Given the description of an element on the screen output the (x, y) to click on. 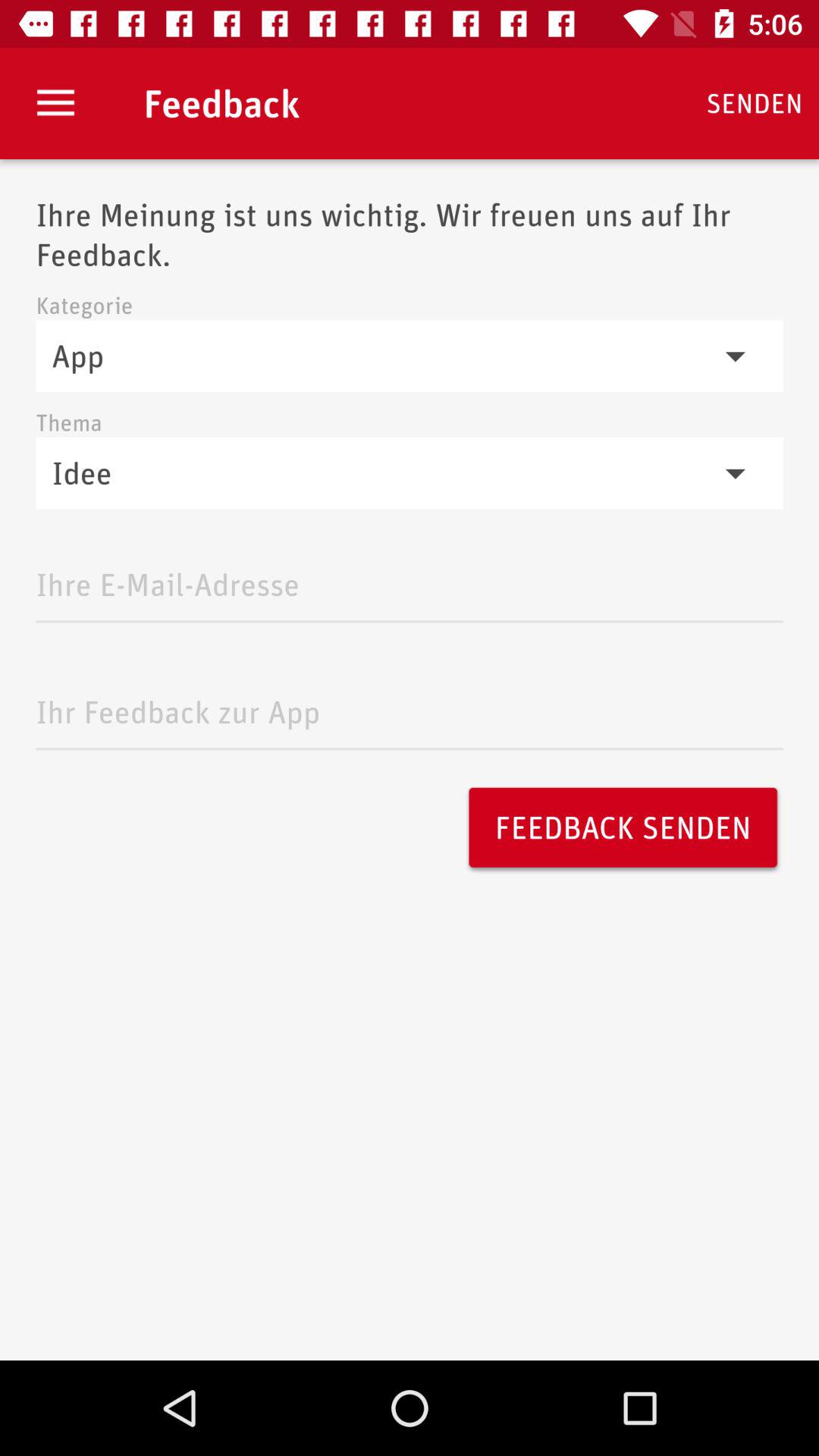
turn off the item on the right (622, 827)
